Given the description of an element on the screen output the (x, y) to click on. 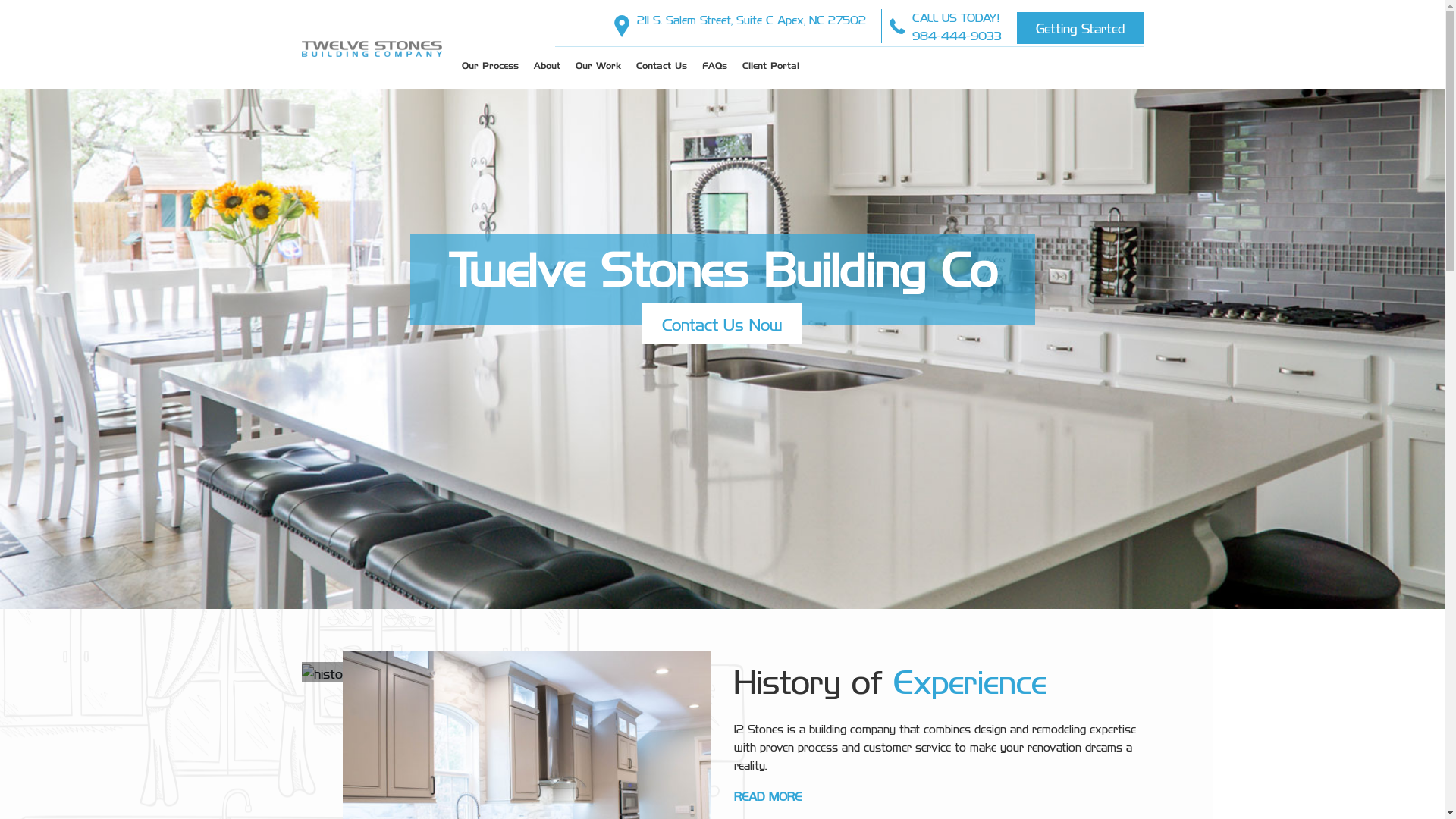
FAQs Element type: text (714, 66)
READ MORE Element type: text (767, 795)
About Element type: text (546, 66)
Contact Us Element type: text (660, 66)
211 S. Salem Street, Suite C Apex, NC 27502 Element type: text (751, 18)
Our Process Element type: text (489, 66)
Getting Started Element type: text (1079, 27)
Client Portal Element type: text (769, 66)
Contact Us Now Element type: text (722, 323)
Our Work Element type: text (597, 66)
984-444-9033 Element type: text (956, 34)
